Given the description of an element on the screen output the (x, y) to click on. 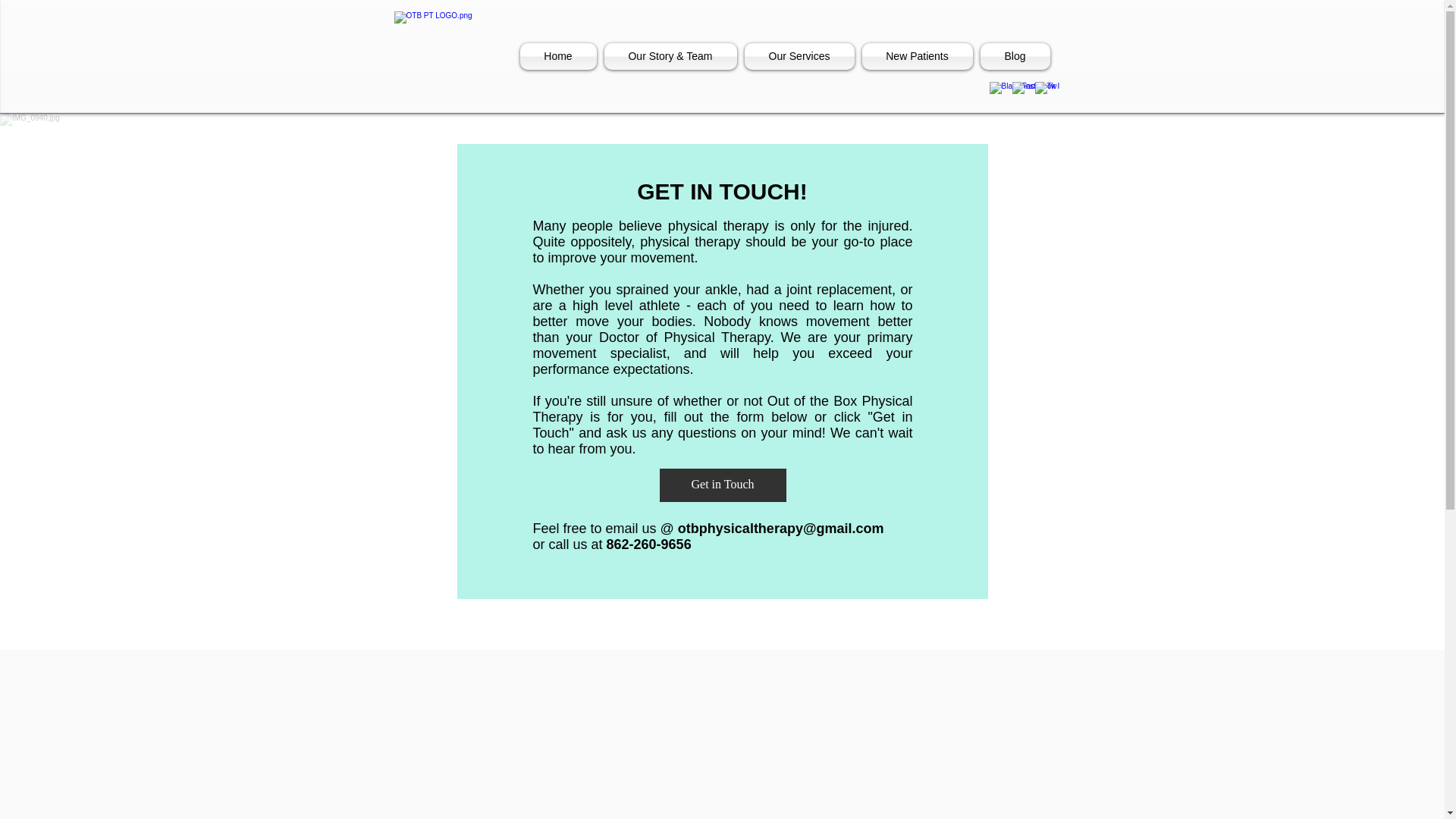
Get in Touch (722, 485)
Home (559, 56)
Our Services (798, 56)
New Patients (917, 56)
Blog (1012, 56)
